Given the description of an element on the screen output the (x, y) to click on. 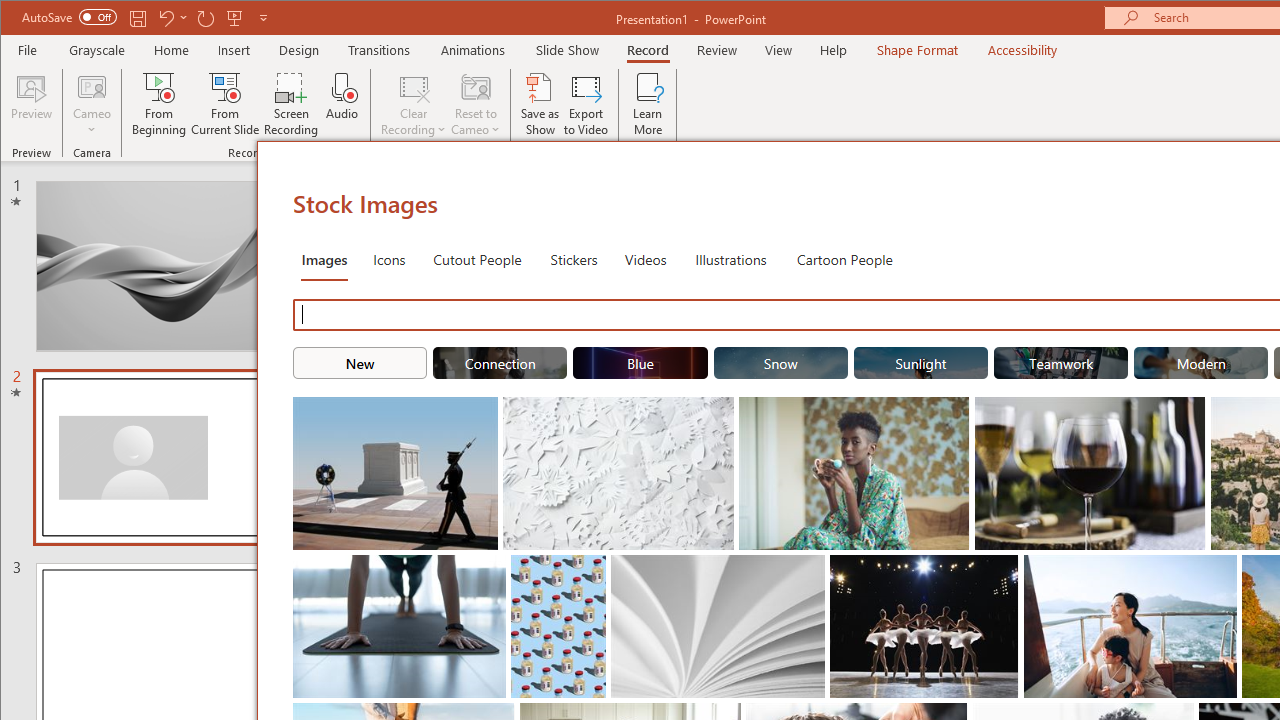
Save as Show (539, 104)
Reset to Cameo (476, 104)
Images (324, 258)
"Blue" Stock Images. (640, 362)
Shape Format (916, 50)
"New" Stock Images. (360, 362)
"Teamwork" Stock Images. (1060, 362)
From Current Slide... (225, 104)
